Given the description of an element on the screen output the (x, y) to click on. 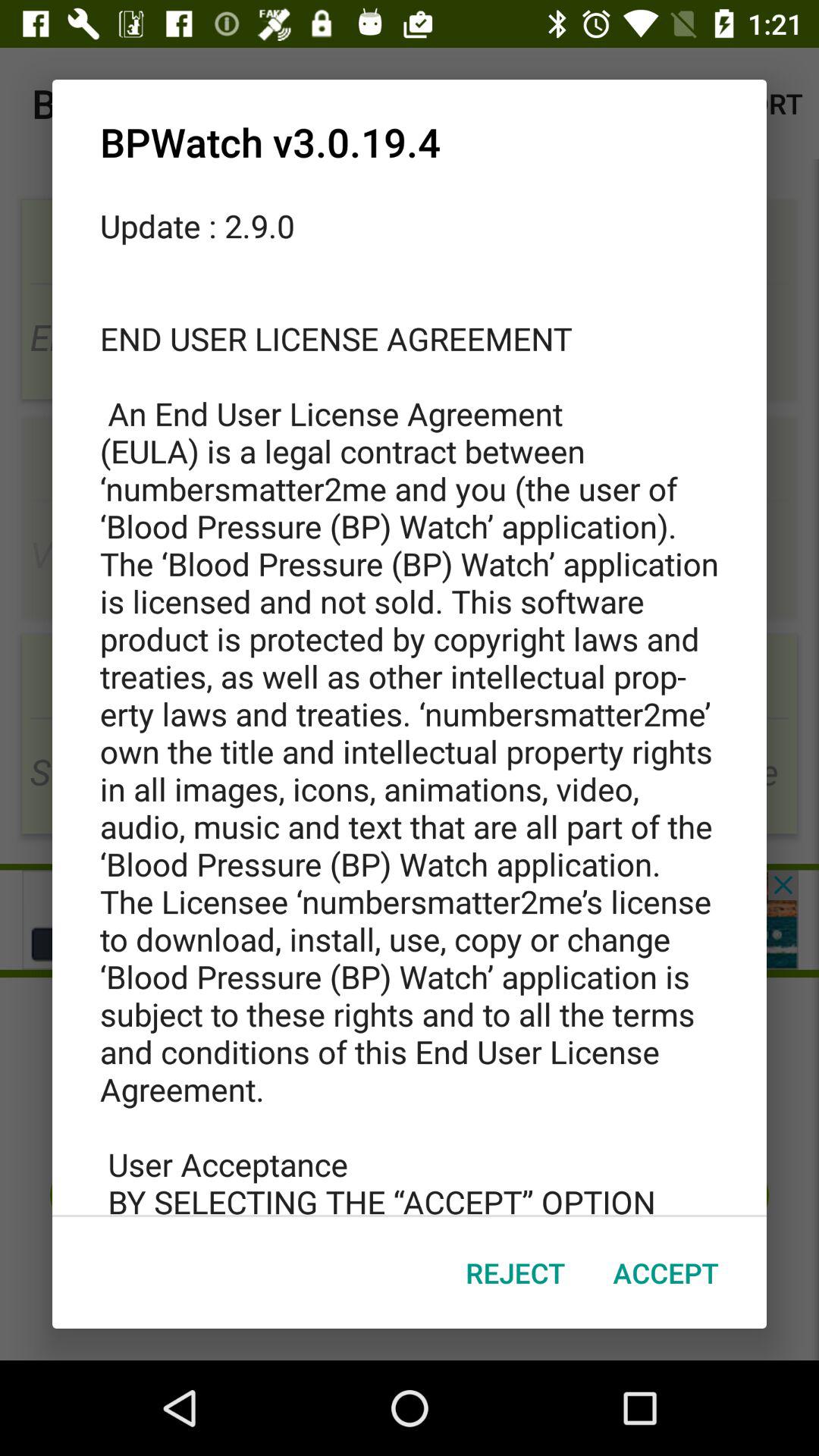
choose item next to accept (515, 1272)
